Given the description of an element on the screen output the (x, y) to click on. 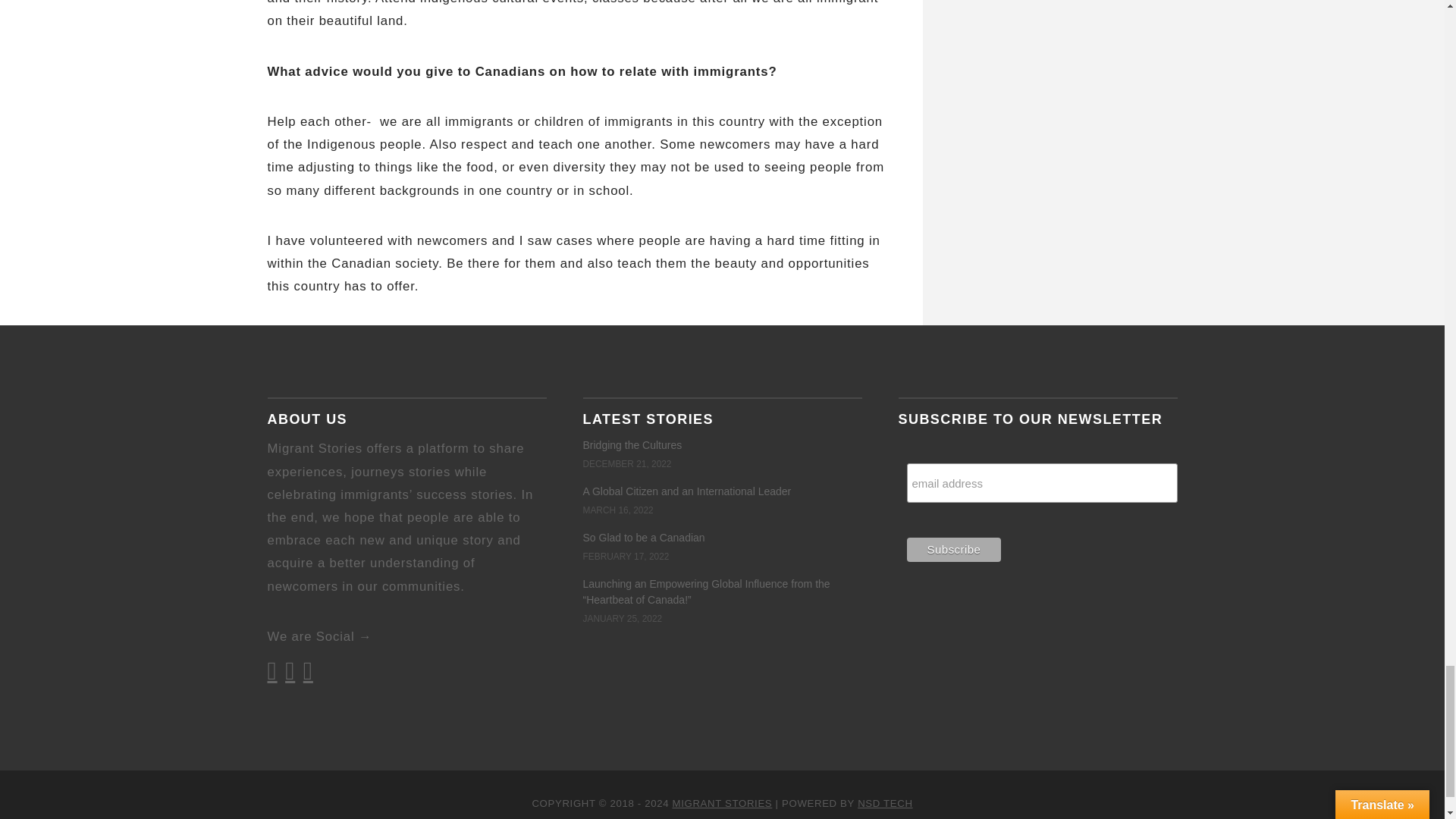
Subscribe (954, 549)
So Glad to be a Canadian (643, 537)
A Global Citizen and an International Leader (686, 491)
Bridging the Cultures (631, 444)
